Given the description of an element on the screen output the (x, y) to click on. 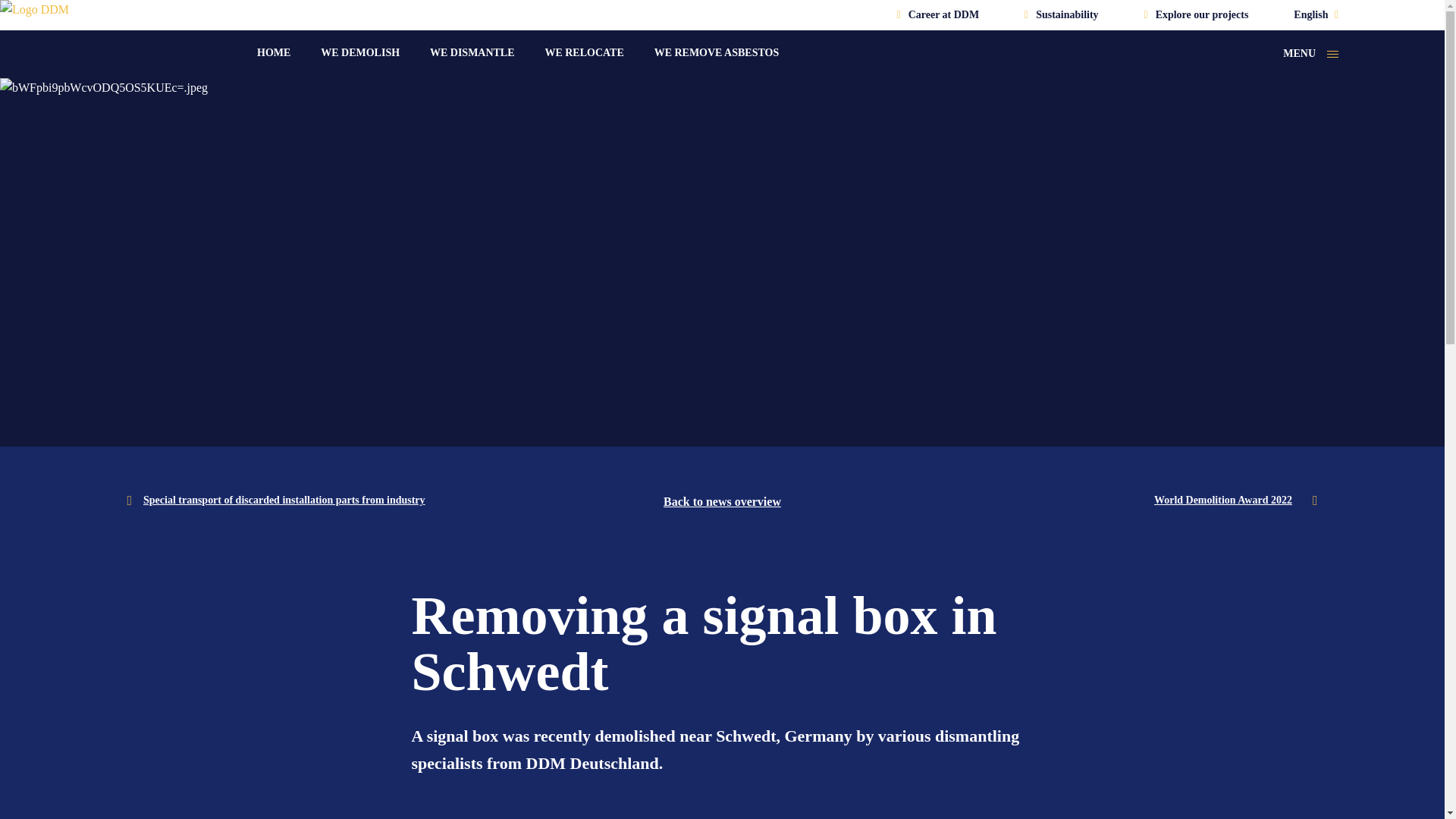
Sustainability (1061, 15)
MENU (1310, 54)
WE RELOCATE (583, 53)
WE REMOVE ASBESTOS (716, 53)
World Demolition Award 2022 (1235, 500)
Career at DDM (937, 15)
HOME (273, 53)
WE DEMOLISH (360, 53)
English (1316, 14)
